Given the description of an element on the screen output the (x, y) to click on. 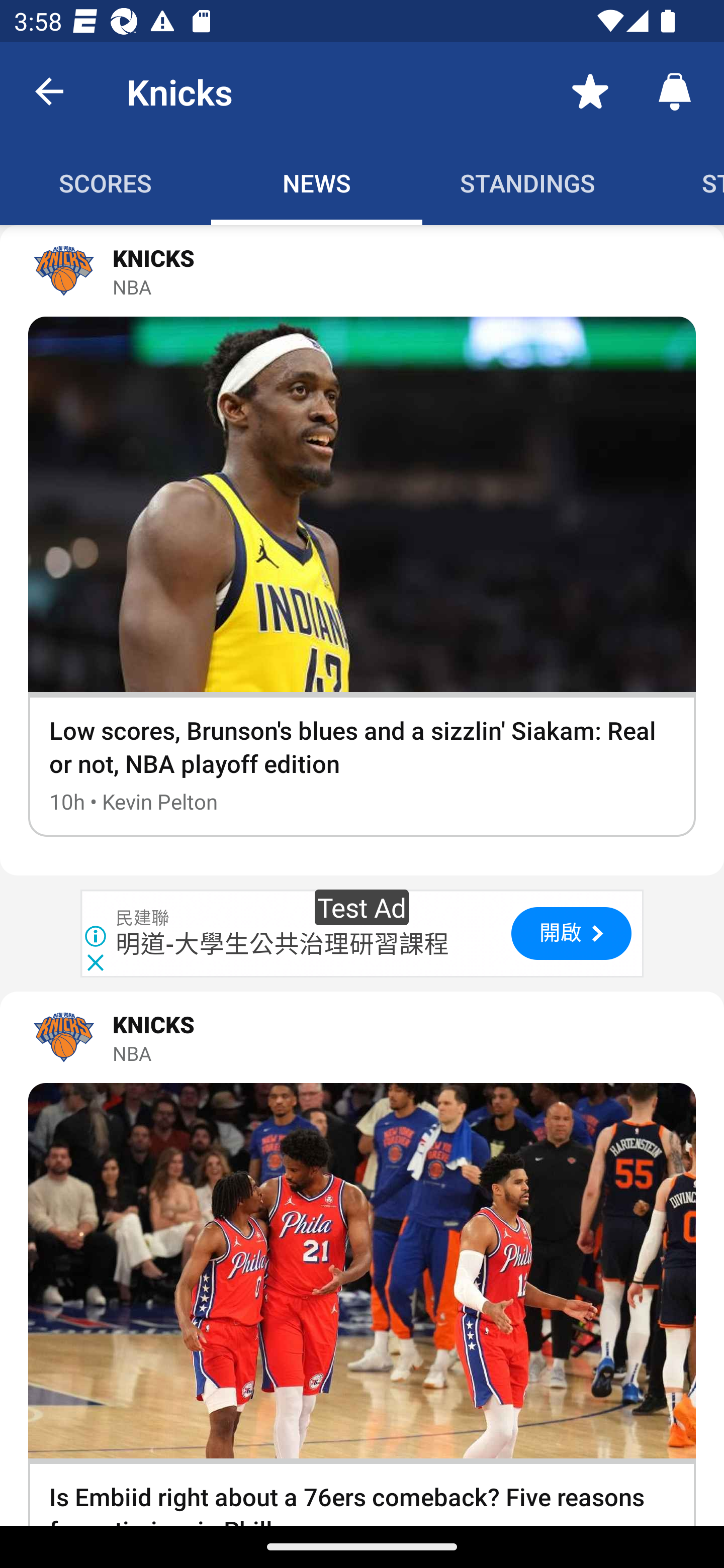
back.button (49, 90)
Favorite toggle (590, 90)
Alerts (674, 90)
Scores SCORES (105, 183)
Standings STANDINGS (527, 183)
KNICKS NBA (362, 270)
民建聯 (142, 918)
開啟 (570, 933)
明道-大學生公共治理研習課程 (282, 943)
KNICKS NBA (362, 1036)
